Given the description of an element on the screen output the (x, y) to click on. 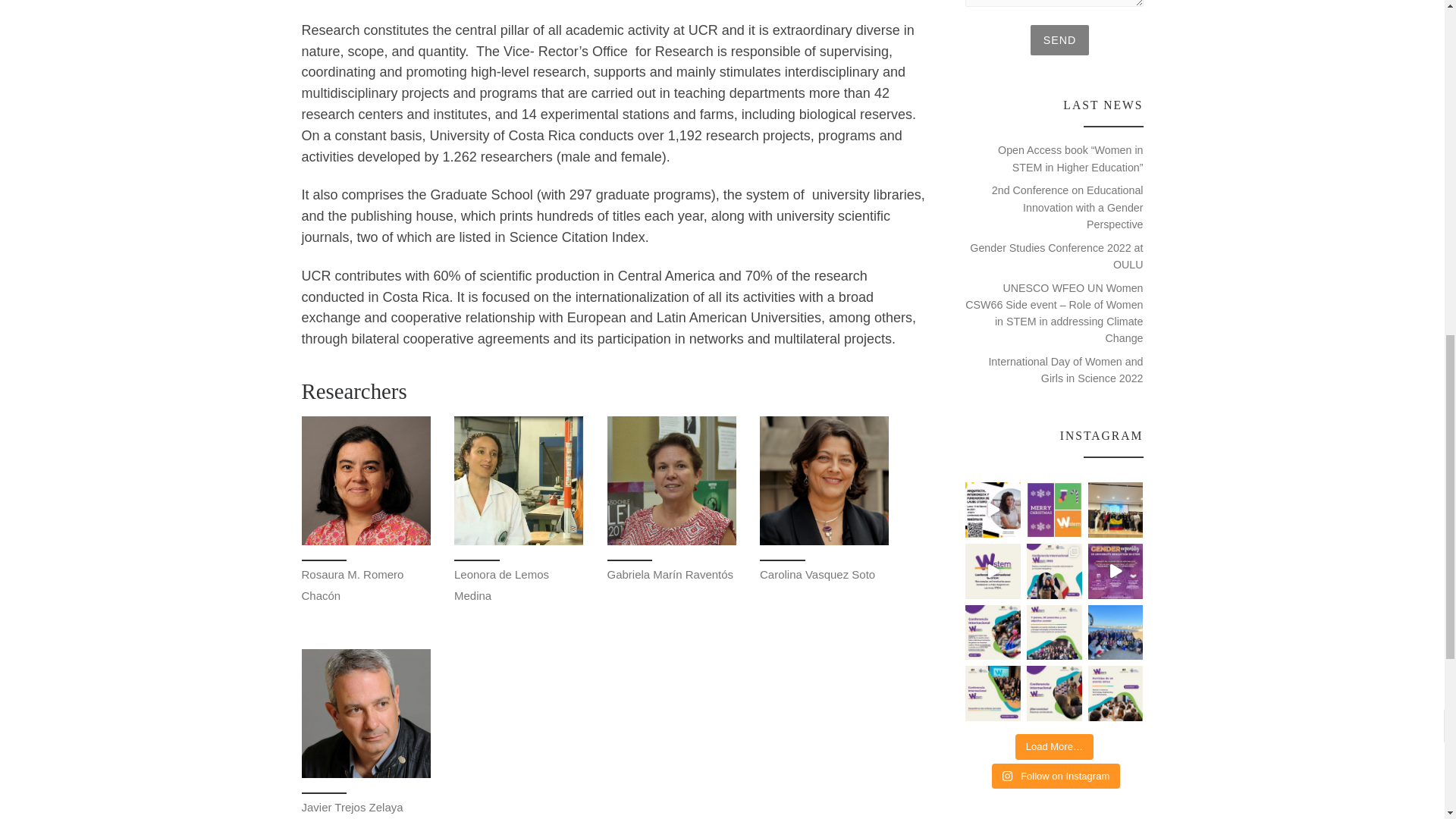
Send (1058, 40)
